Given the description of an element on the screen output the (x, y) to click on. 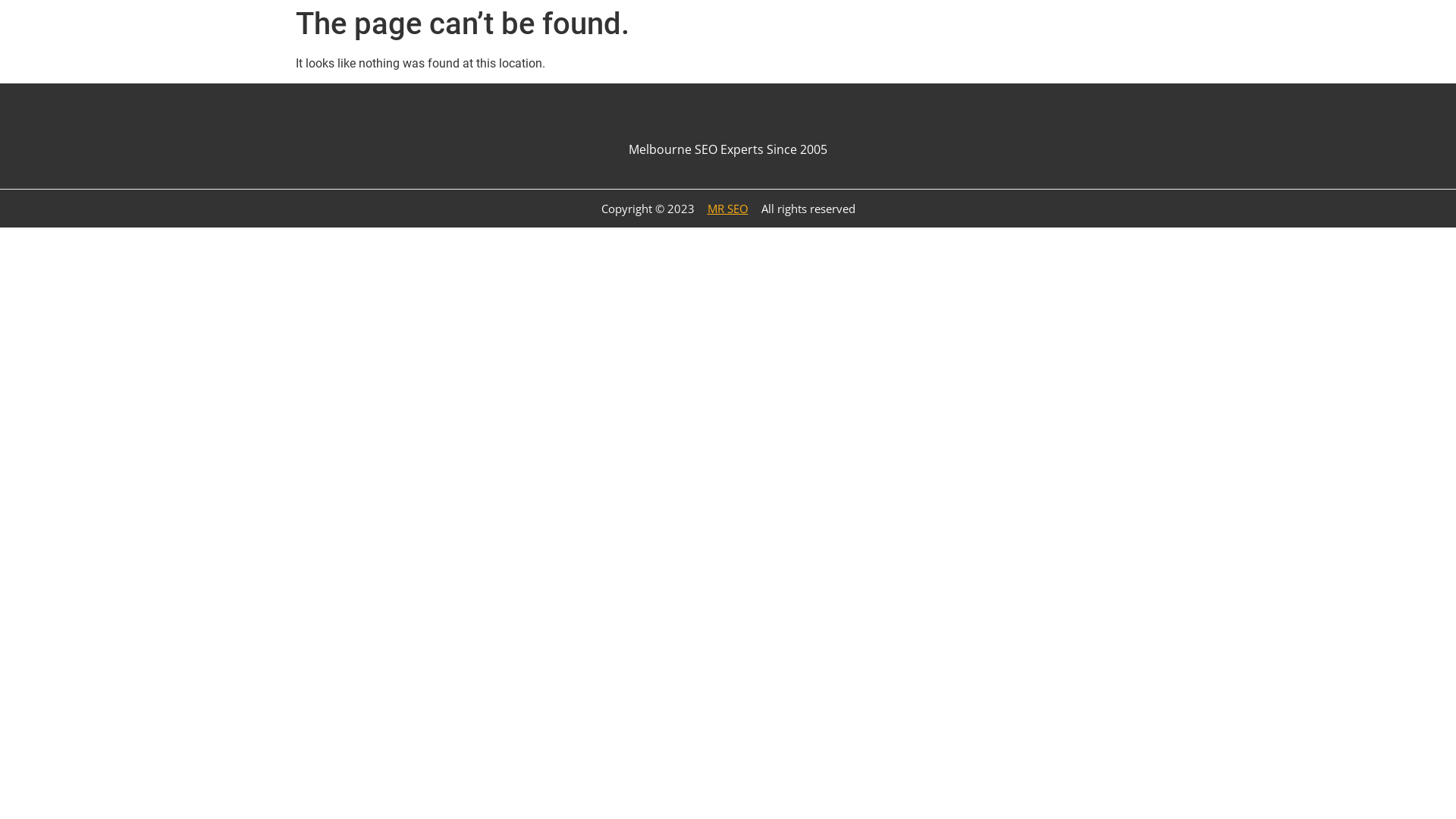
MR SEO Element type: text (727, 208)
